Given the description of an element on the screen output the (x, y) to click on. 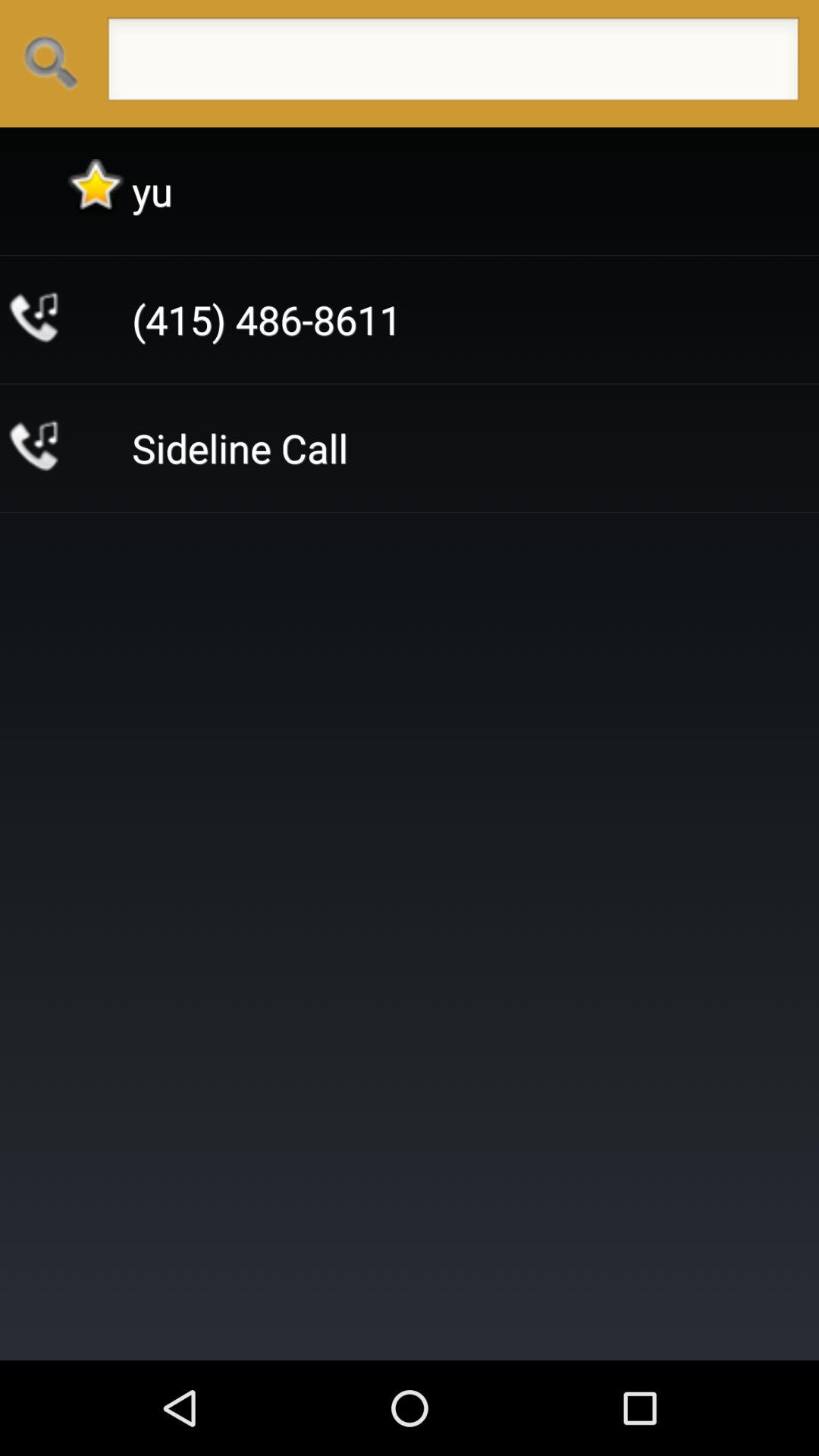
press sideline call (239, 447)
